Given the description of an element on the screen output the (x, y) to click on. 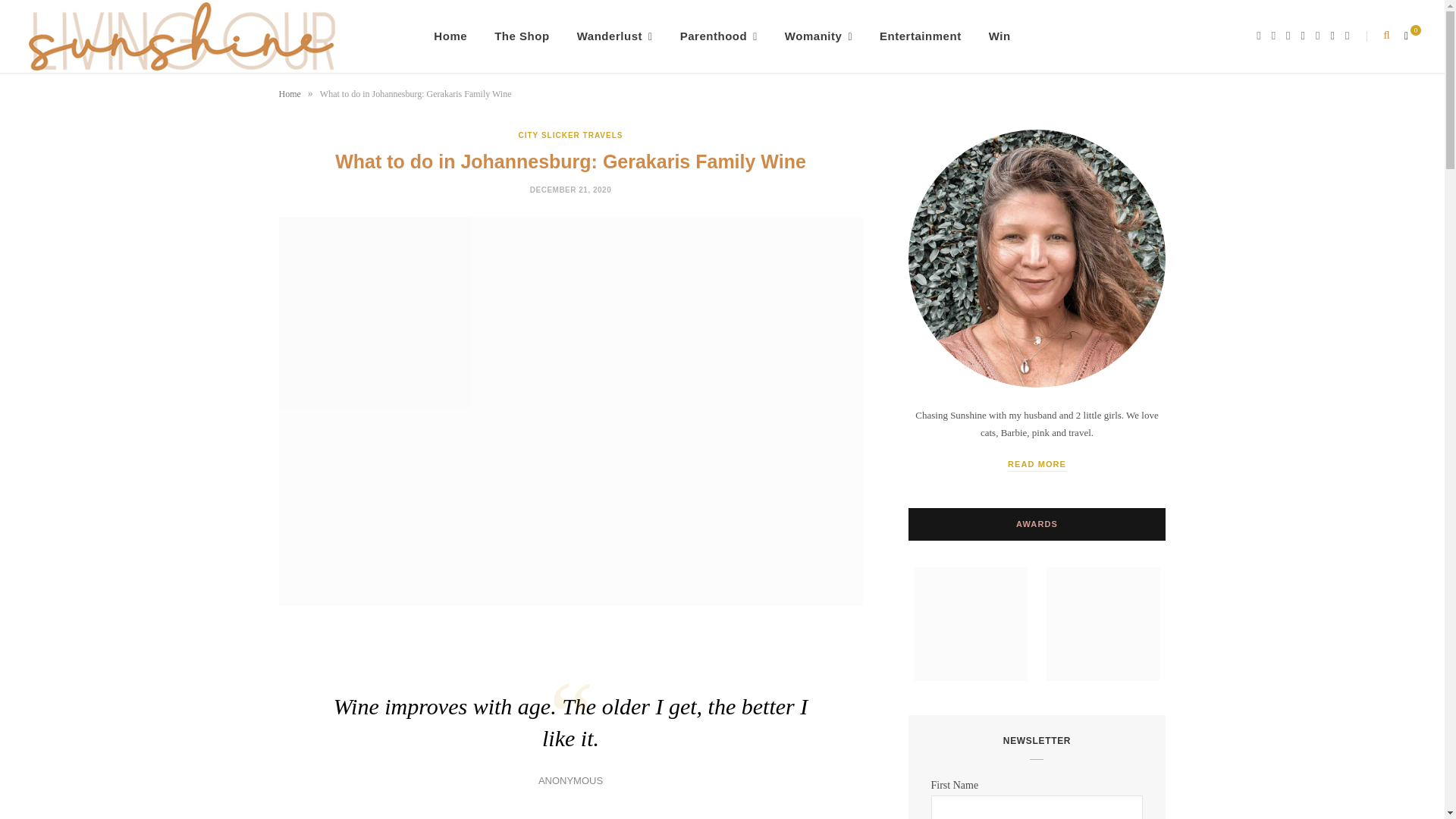
The Shop (521, 36)
Wanderlust (614, 36)
Pinktastic (181, 36)
